Given the description of an element on the screen output the (x, y) to click on. 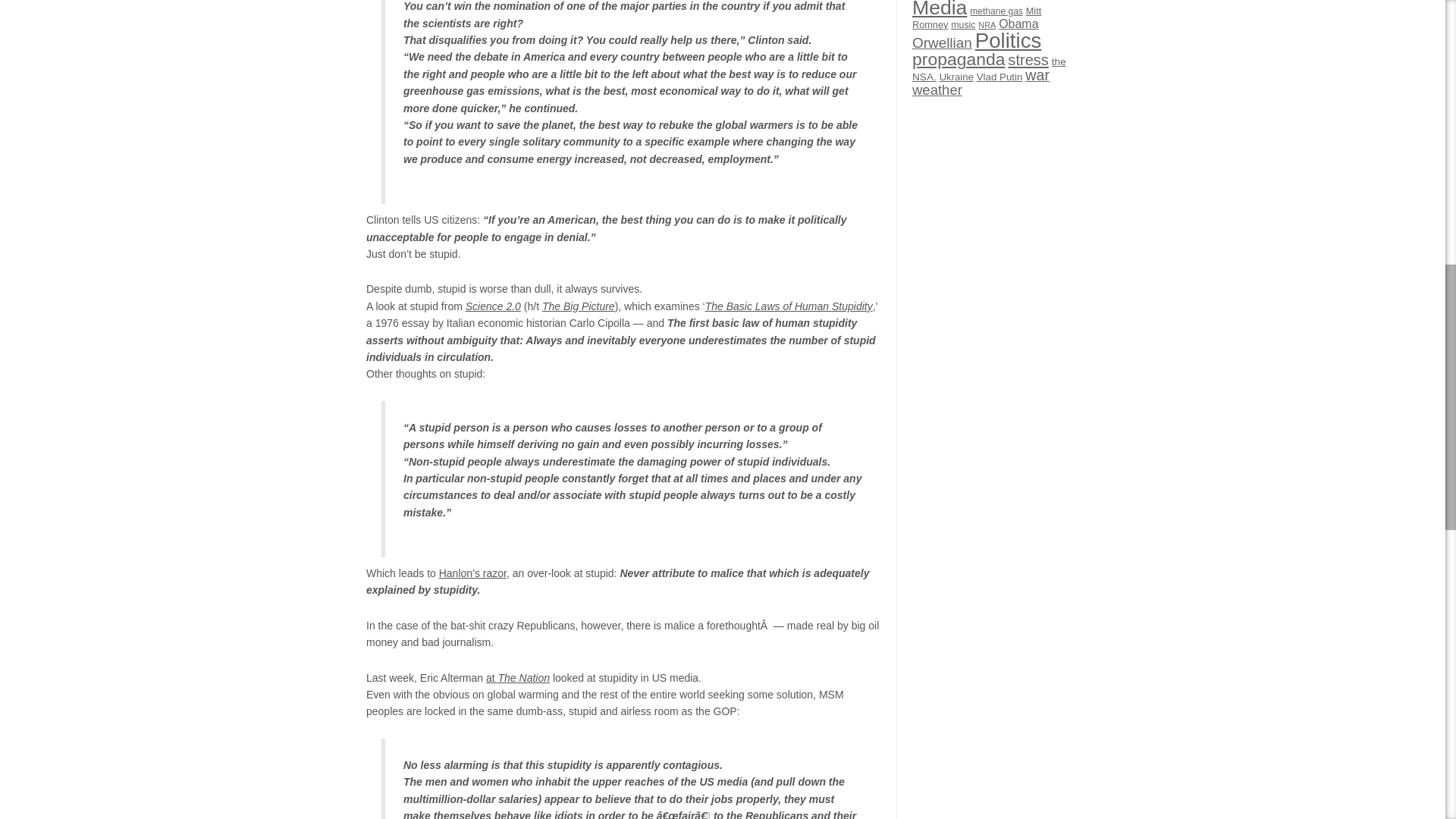
at The Nation (518, 677)
The Big Picture (577, 306)
The Basic Laws of Human Stupidity (788, 306)
Science 2.0 (493, 306)
